Given the description of an element on the screen output the (x, y) to click on. 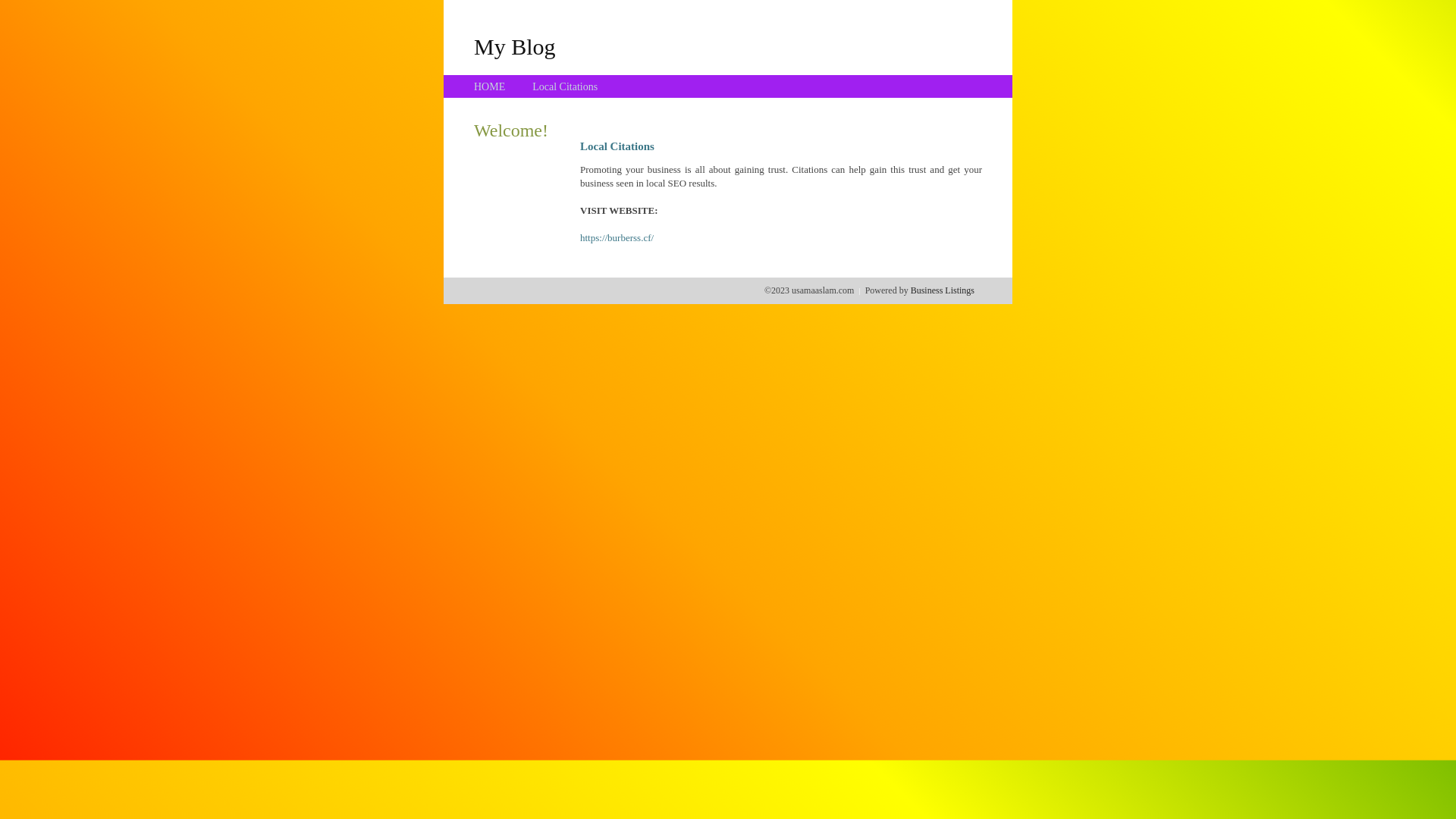
HOME Element type: text (489, 86)
Business Listings Element type: text (942, 290)
Local Citations Element type: text (564, 86)
My Blog Element type: text (514, 46)
https://burberss.cf/ Element type: text (616, 237)
